Given the description of an element on the screen output the (x, y) to click on. 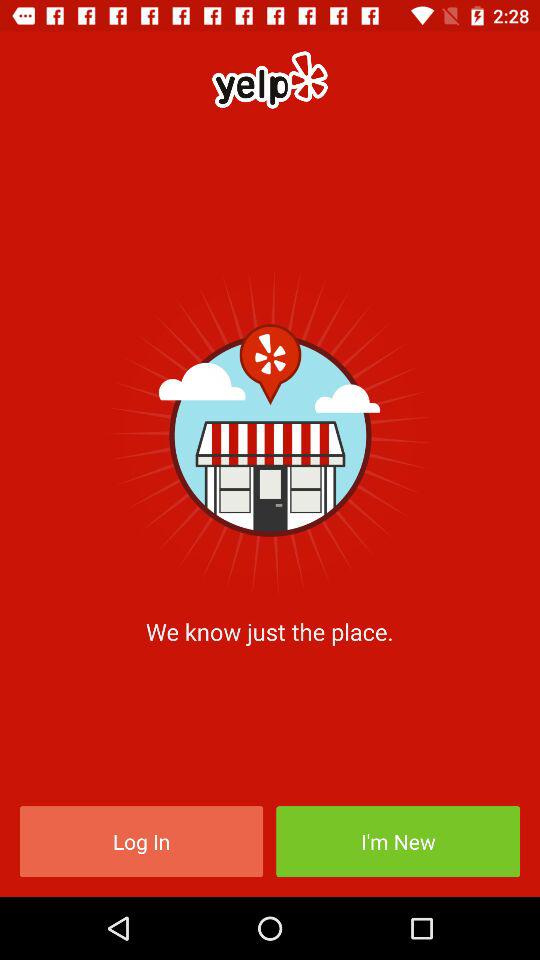
open icon below we know just (141, 841)
